Given the description of an element on the screen output the (x, y) to click on. 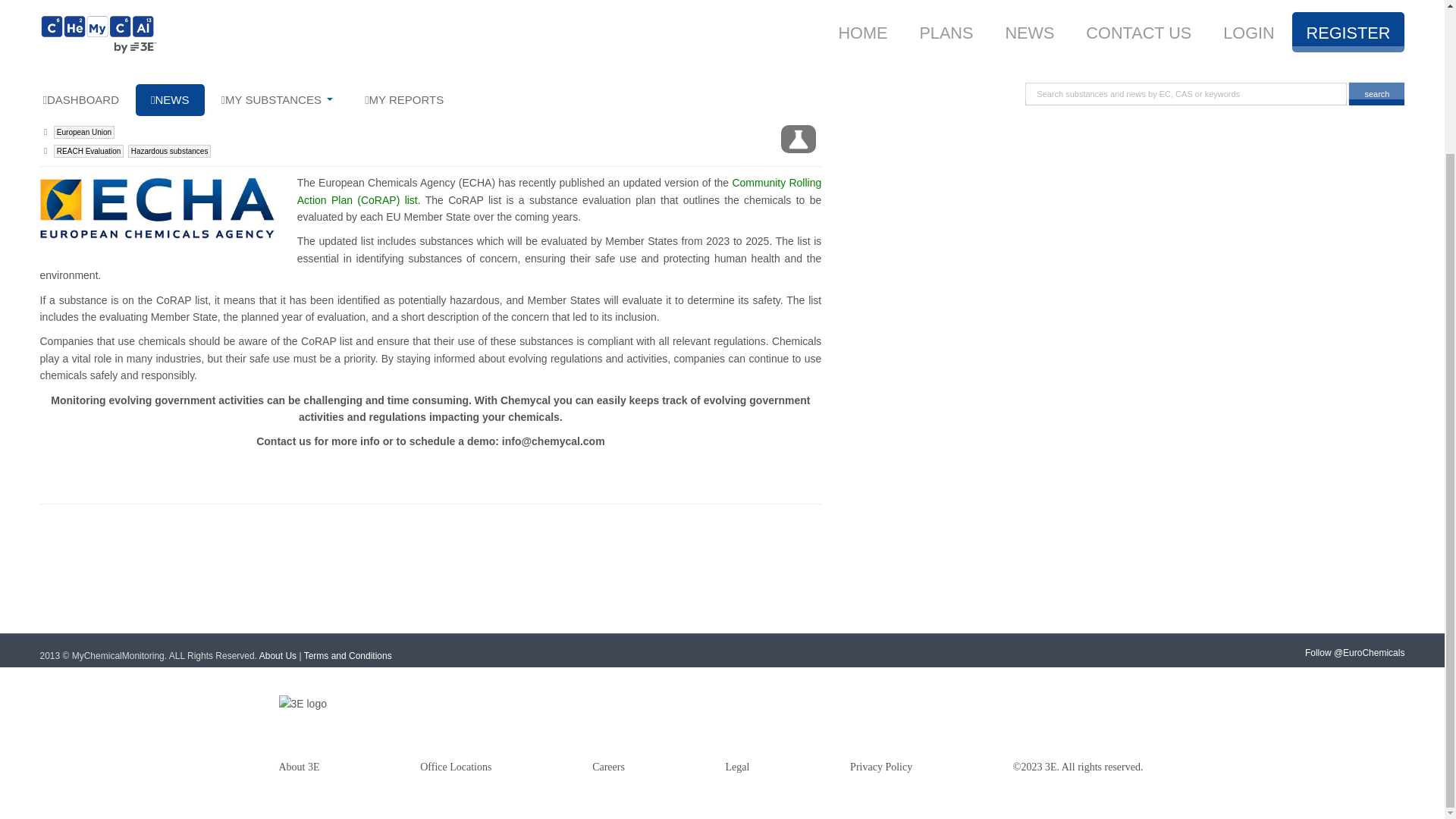
European Union (84, 132)
Hazardous substances (169, 151)
REACH Evaluation (88, 151)
